Given the description of an element on the screen output the (x, y) to click on. 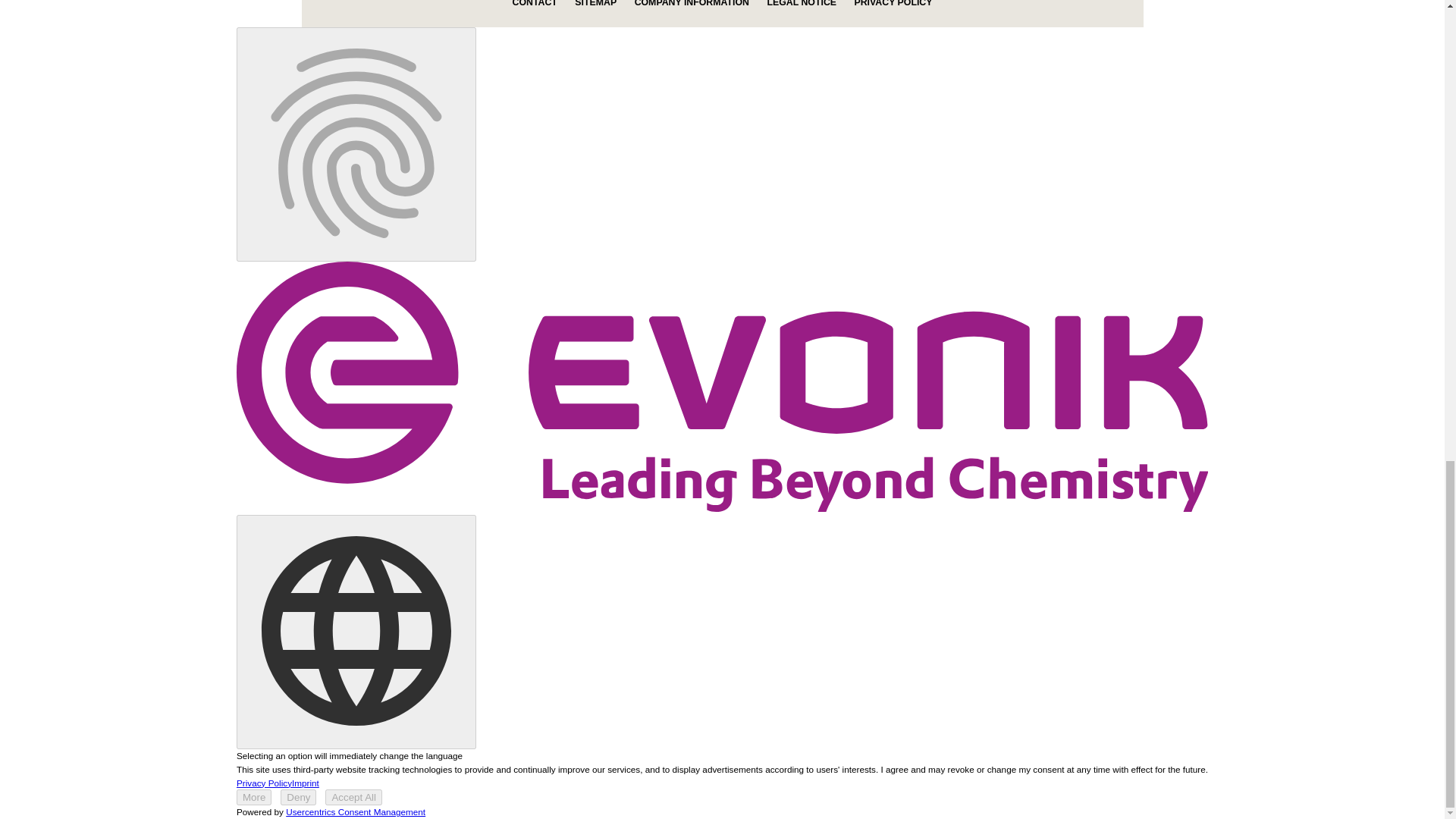
CONTACT (534, 3)
COMPANY INFORMATION (691, 3)
LEGAL NOTICE (801, 3)
PRIVACY POLICY (892, 3)
SITEMAP (595, 3)
